Given the description of an element on the screen output the (x, y) to click on. 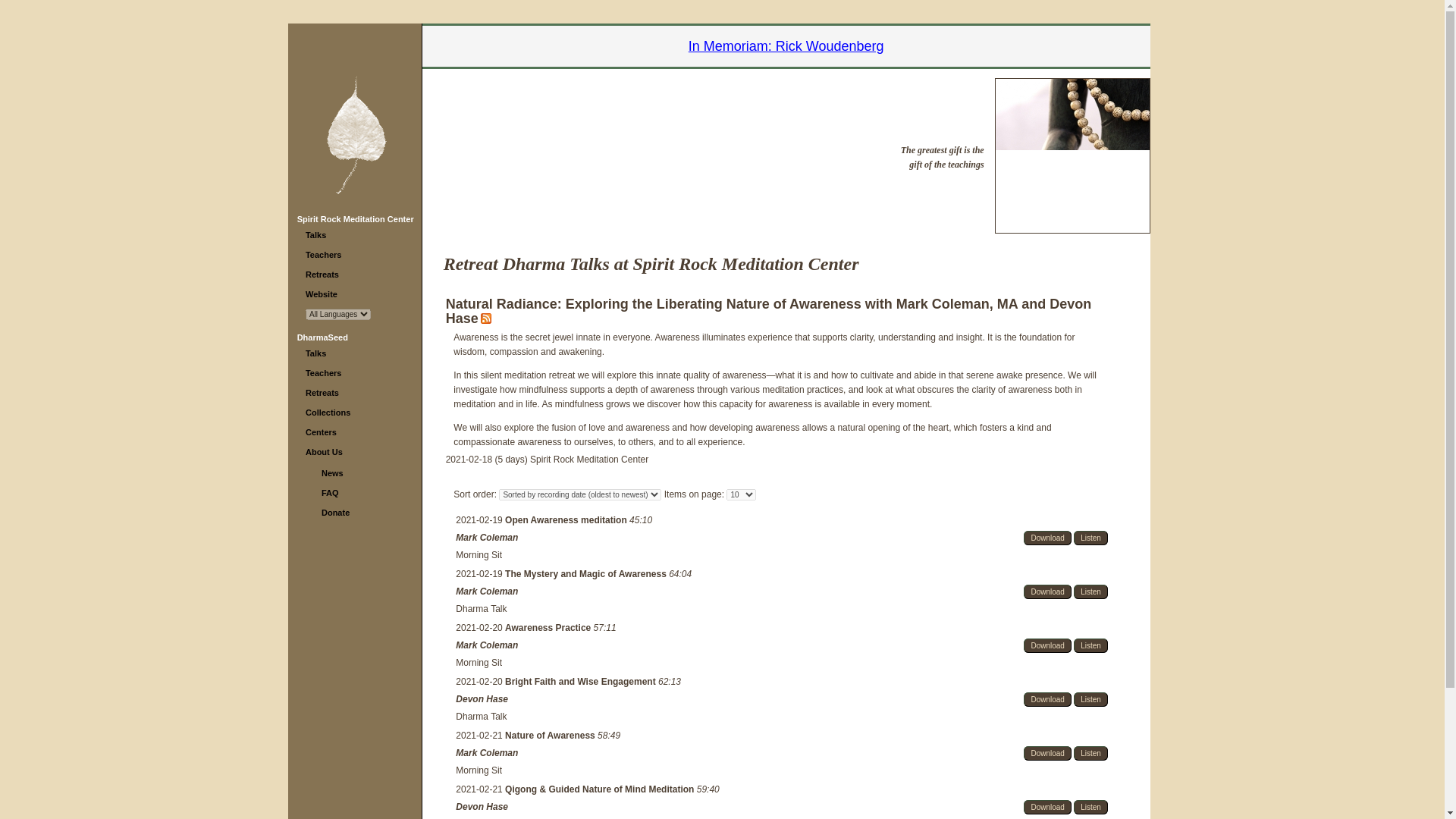
Listen to Open Awareness meditation (1091, 537)
DharmaSeed (322, 337)
Retreats (322, 274)
Listen to Bright Faith and Wise Engagement (1091, 699)
News (332, 472)
Mark Coleman (486, 591)
Listen (1091, 645)
Talks (315, 352)
Open Awareness meditation (566, 520)
Download (1046, 645)
Mark Coleman (486, 752)
Download (1046, 591)
Spirit Rock Meditation Center (355, 218)
Devon Hase (481, 806)
Retreats (322, 392)
